Given the description of an element on the screen output the (x, y) to click on. 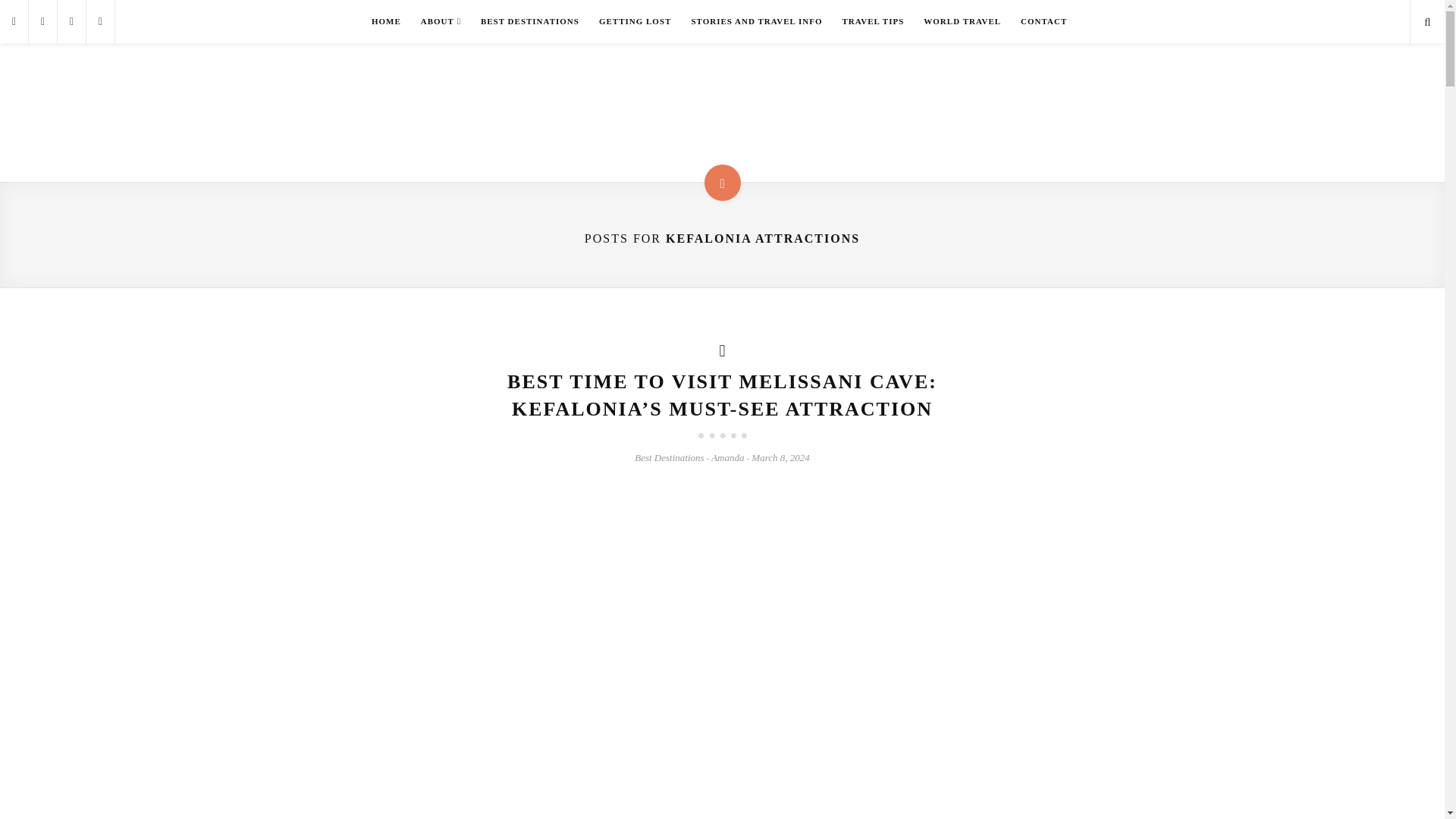
Best Destinations (668, 457)
STORIES AND TRAVEL INFO (756, 21)
HOME (385, 21)
GETTING LOST (635, 21)
WORLD TRAVEL (962, 21)
CONTACT (1043, 21)
TRAVEL TIPS (872, 21)
ABOUT (440, 21)
BEST DESTINATIONS (529, 21)
